Given the description of an element on the screen output the (x, y) to click on. 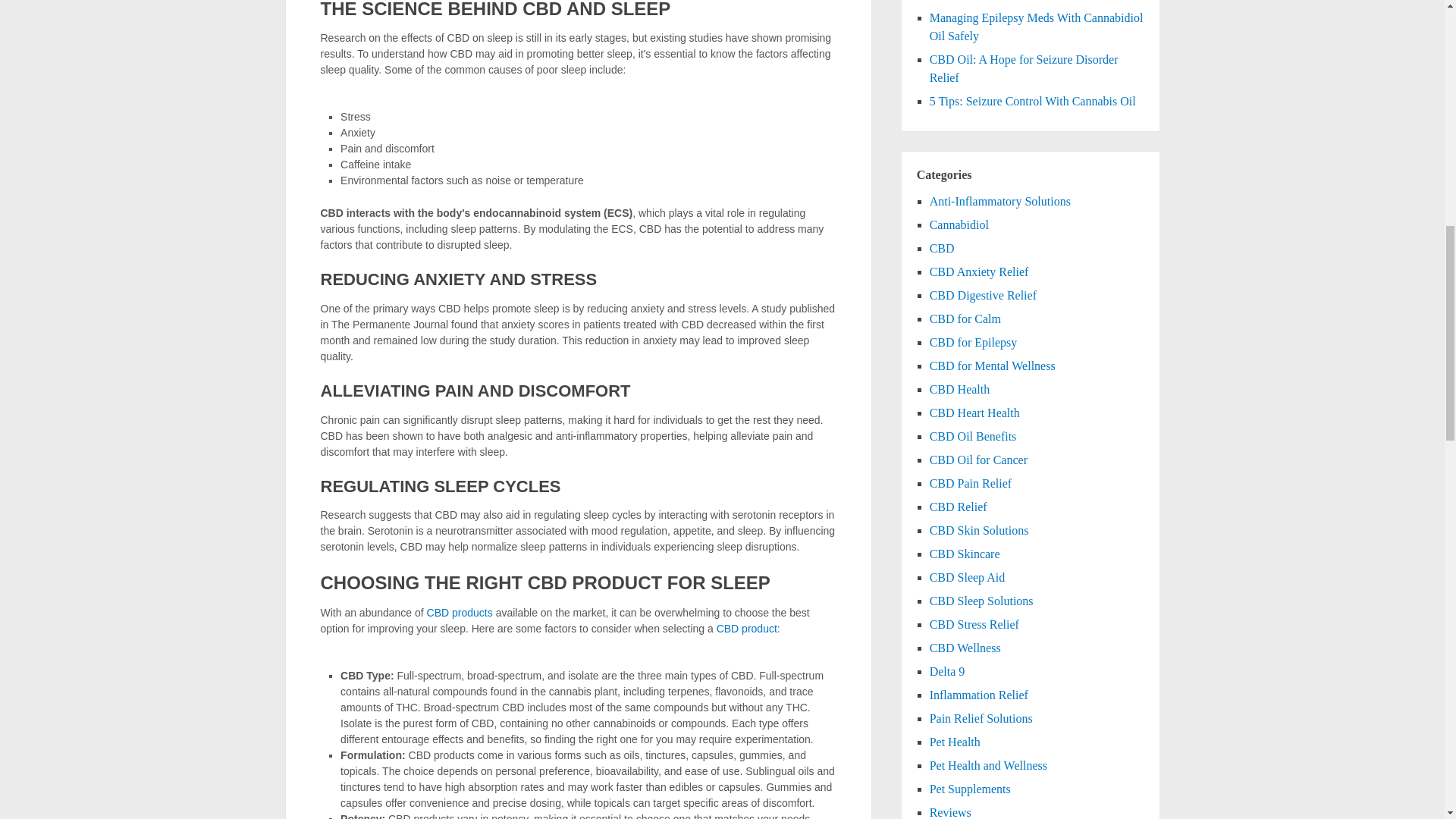
CBD Oil: A Hope for Seizure Disorder Relief (1024, 68)
CBD product: (748, 628)
CBD products (459, 612)
Managing Epilepsy Meds With Cannabidiol Oil Safely (1036, 26)
